Given the description of an element on the screen output the (x, y) to click on. 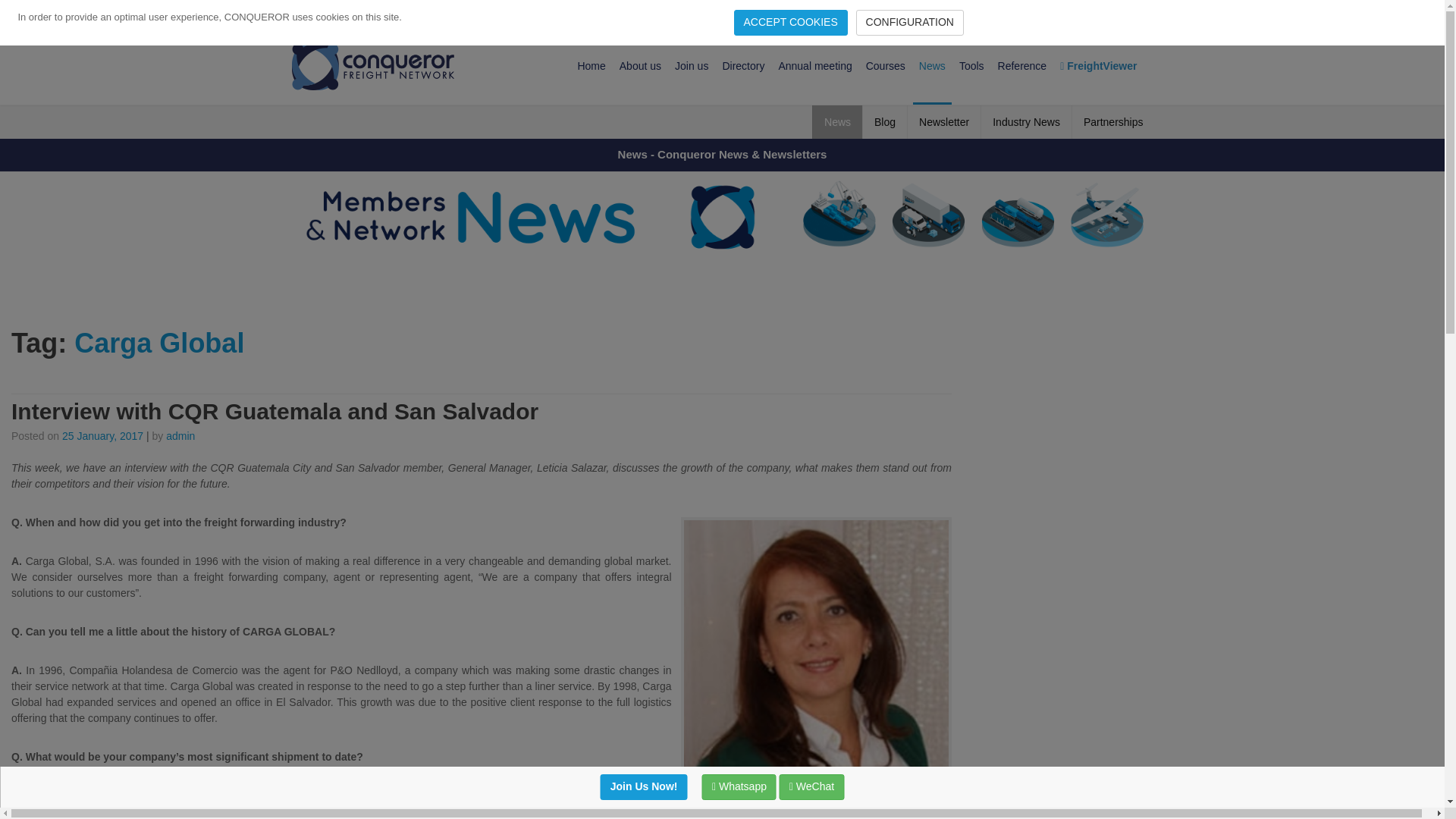
Annual meeting (814, 65)
Interview with CQR Guatemala and San Salvador (274, 411)
Join us (691, 65)
Newsletter (943, 121)
Reference (1021, 65)
Partnerships (1113, 121)
Members Area (1115, 14)
FreightViewer (1098, 65)
Blog (884, 121)
25 January, 2017 (102, 435)
News (932, 65)
Contact Us (1047, 14)
Tools (971, 65)
About us (639, 65)
Courses (885, 65)
